Given the description of an element on the screen output the (x, y) to click on. 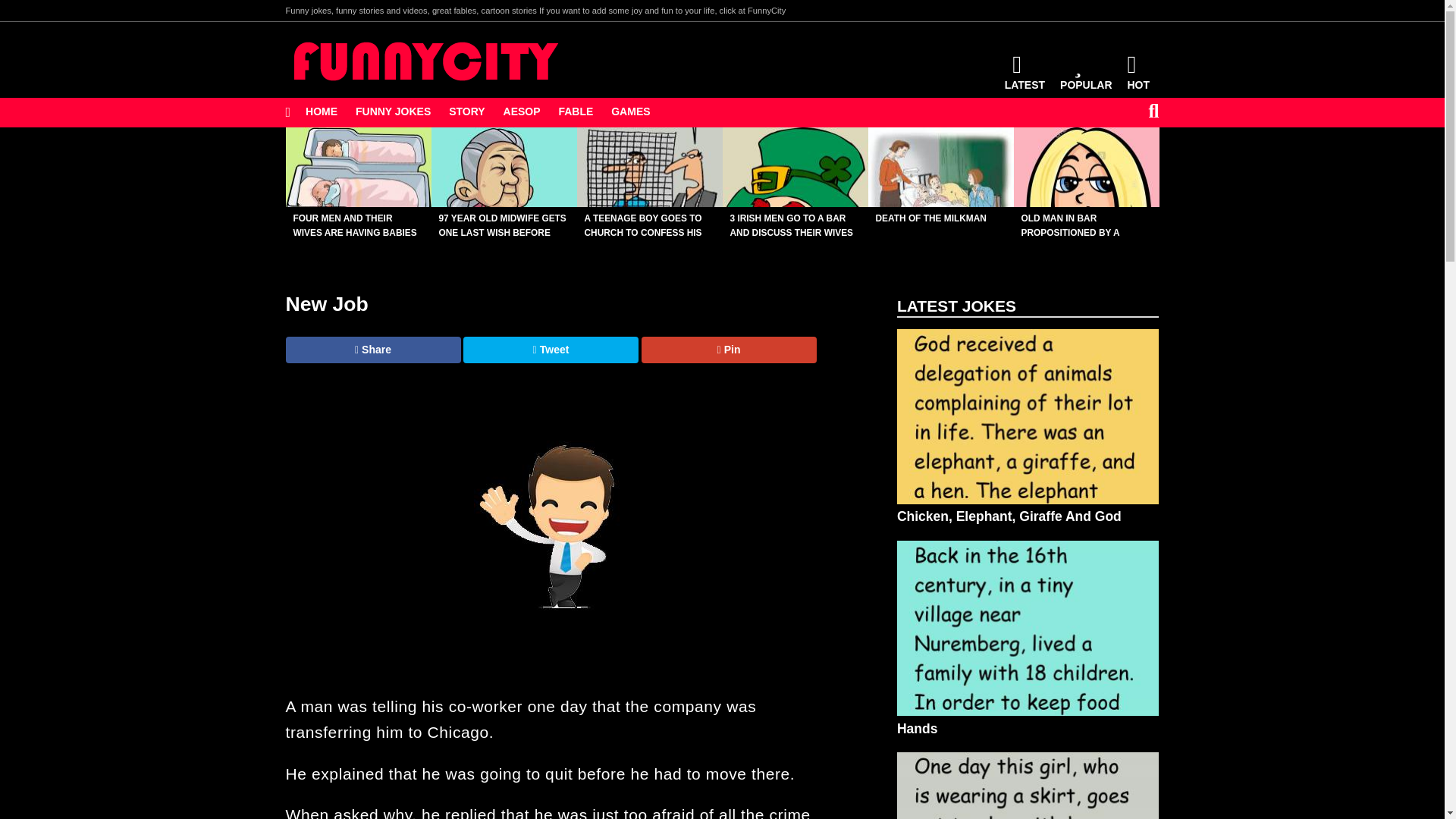
3 IRISH MEN GO TO A BAR AND DISCUSS THEIR WIVES (794, 167)
Aesop (522, 111)
AESOP (522, 111)
Old Man In Bar Propositioned By A Young Woman (1085, 167)
FABLE (574, 111)
FUNNY JOKES (392, 111)
A TEENAGE BOY GOES TO CHURCH TO CONFESS HIS SINS (649, 167)
Death Of The Milkman (940, 167)
Funny Jokes (392, 111)
HOT (1138, 72)
Fable (574, 111)
Pin (729, 349)
HOME (321, 111)
LATEST (1024, 72)
Chicken, Elephant, Giraffe And God (1027, 434)
